Given the description of an element on the screen output the (x, y) to click on. 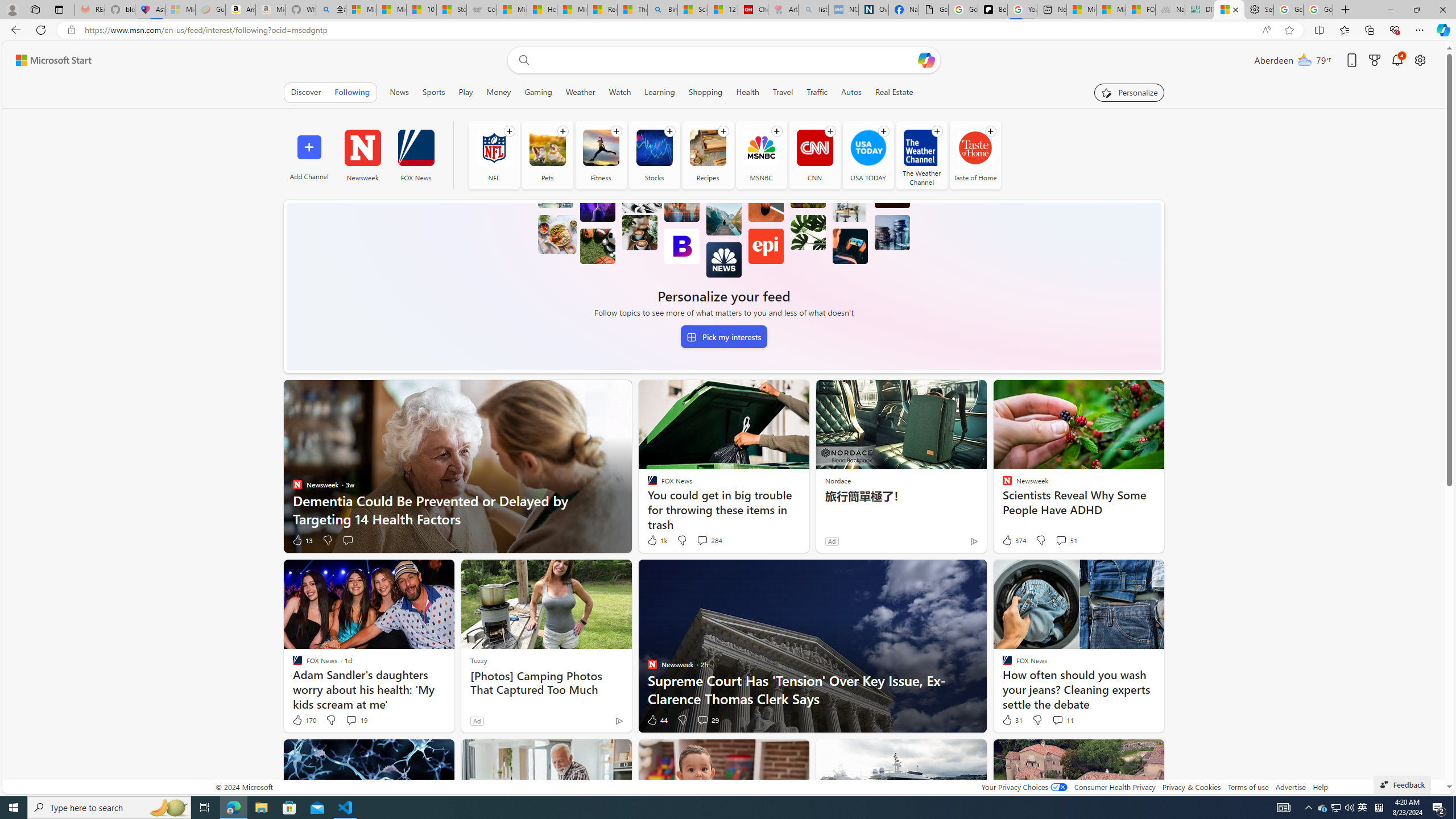
Pets (547, 155)
Health (747, 92)
Newsweek (362, 155)
Be Smart | creating Science videos | Patreon (991, 9)
1k Like (656, 539)
Real Estate (893, 92)
View comments 29 Comment (703, 719)
Recipes - MSN (601, 9)
